Given the description of an element on the screen output the (x, y) to click on. 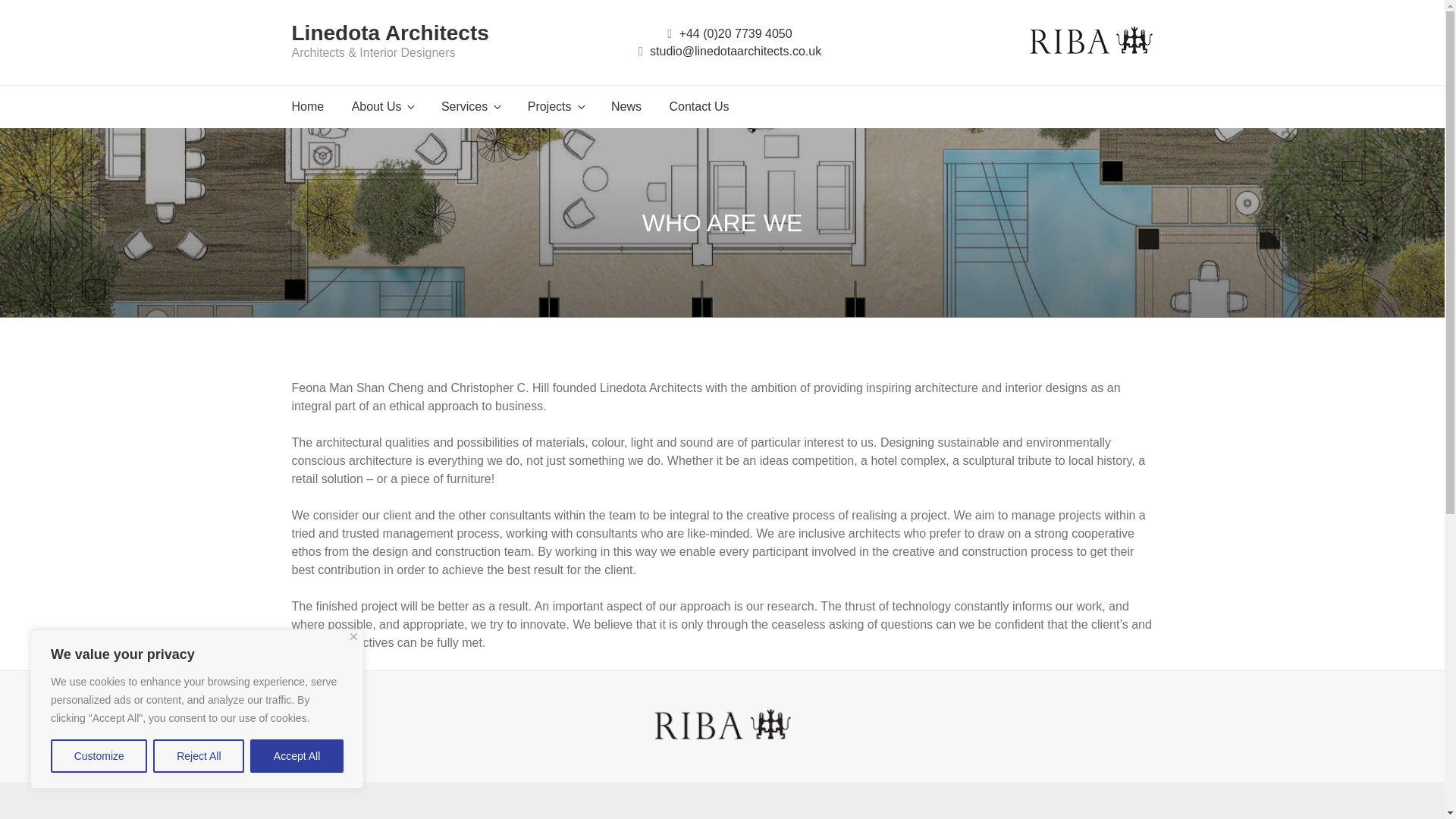
Reject All (198, 756)
About Us (382, 106)
Home (307, 106)
Customize (98, 756)
Linedota Architects (389, 33)
Accept All (296, 756)
